Given the description of an element on the screen output the (x, y) to click on. 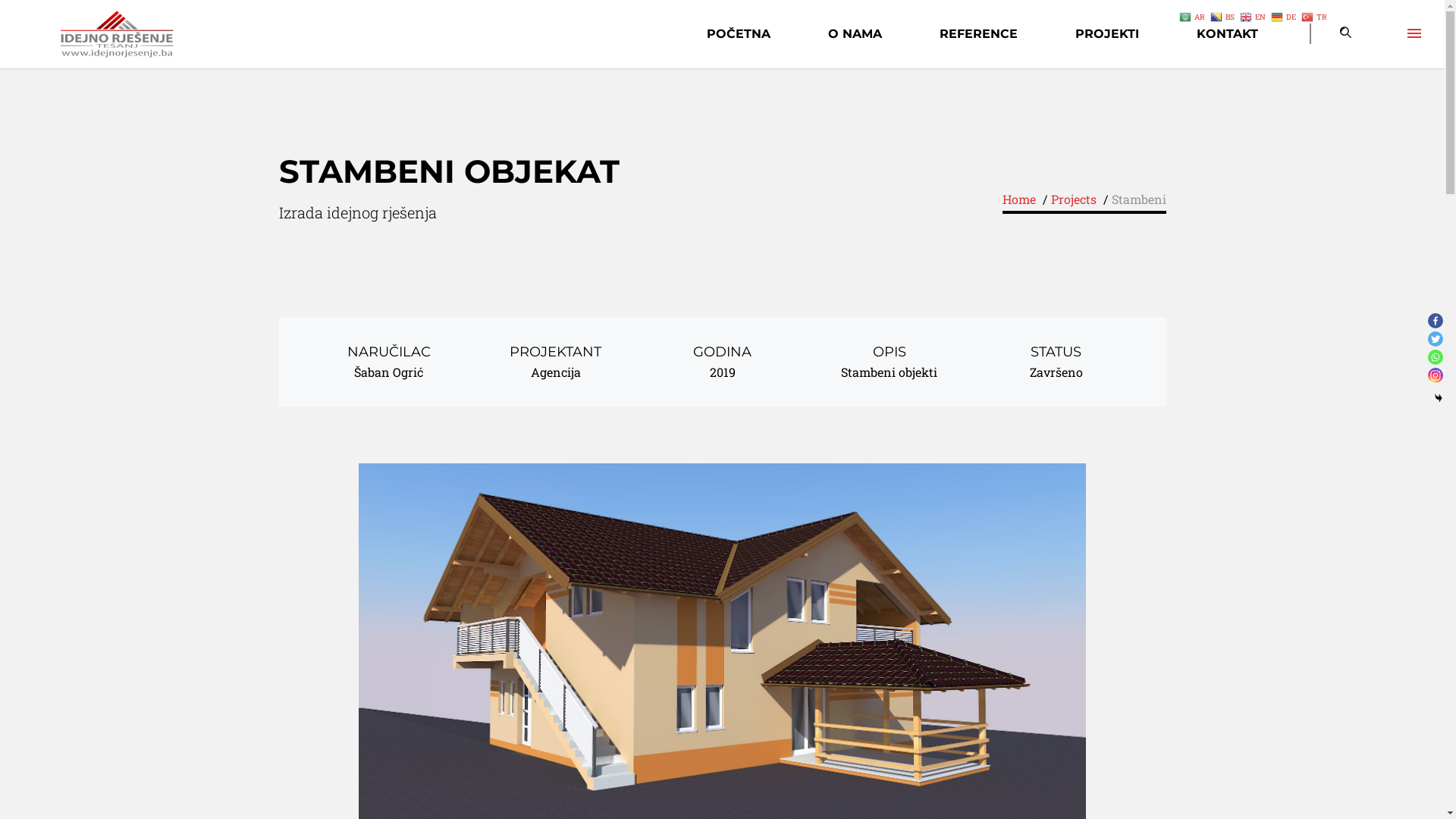
Hide Element type: hover (1438, 398)
REFERENCE Element type: text (978, 33)
O NAMA Element type: text (854, 33)
Twitter Element type: hover (1435, 338)
PROJEKTI Element type: text (1106, 33)
Home Element type: text (1018, 199)
Whatsapp Element type: hover (1435, 356)
TR Element type: text (1315, 15)
BS Element type: text (1223, 15)
Projects Element type: text (1073, 199)
DE Element type: text (1284, 15)
Facebook Element type: hover (1435, 320)
KONTAKT Element type: text (1226, 33)
EN Element type: text (1253, 15)
Instagram Element type: hover (1435, 374)
AR Element type: text (1193, 15)
